Given the description of an element on the screen output the (x, y) to click on. 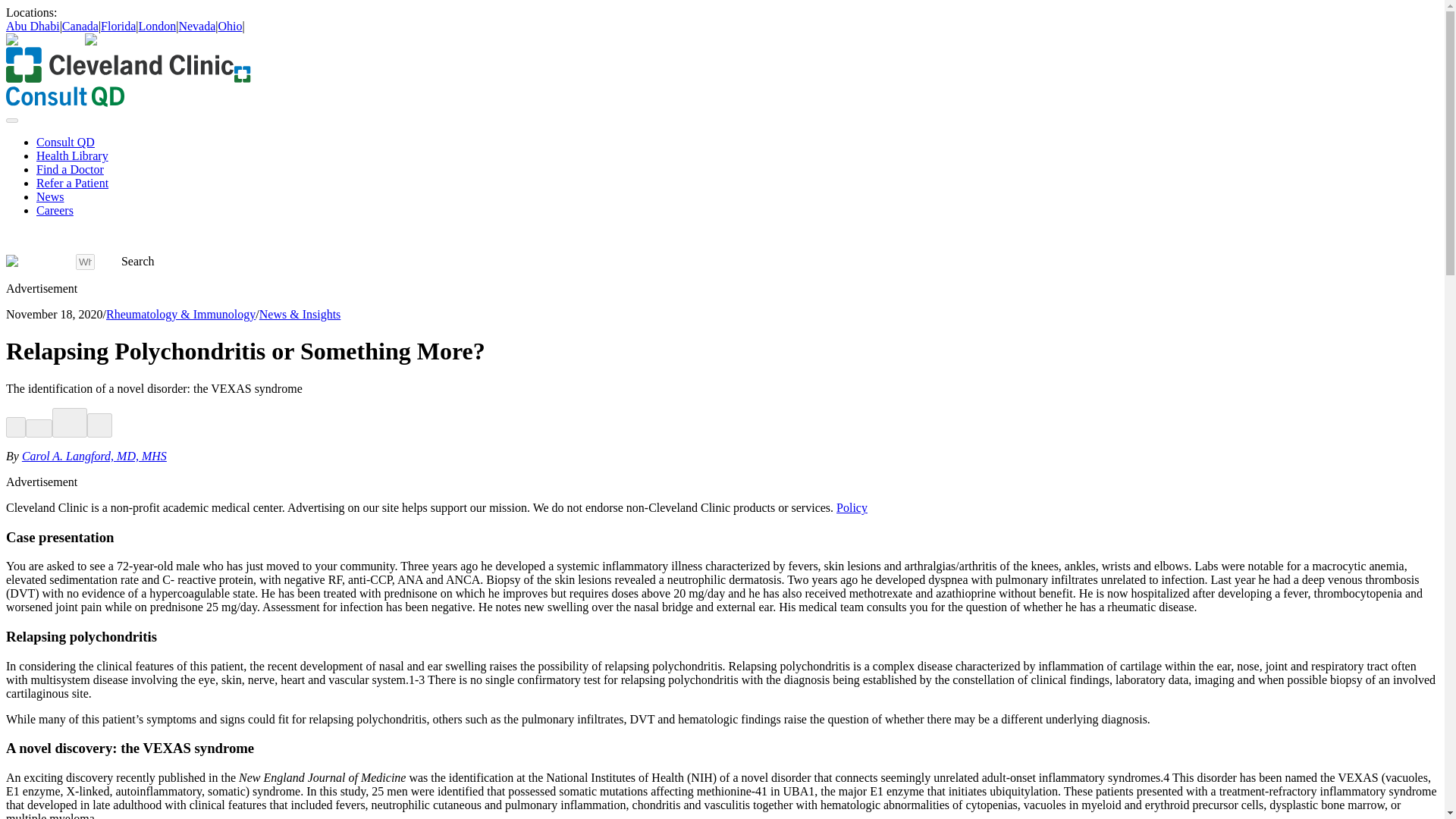
Ohio (230, 25)
Consult QD (65, 141)
London (157, 25)
Abu Dhabi (32, 25)
Nevada (196, 25)
Florida (117, 25)
Refer a Patient (71, 182)
Canada (80, 25)
News (50, 196)
Policy (851, 507)
Health Library (71, 155)
Find a Doctor (69, 169)
Carol A. Langford, MD, MHS (94, 455)
Careers (55, 210)
